Given the description of an element on the screen output the (x, y) to click on. 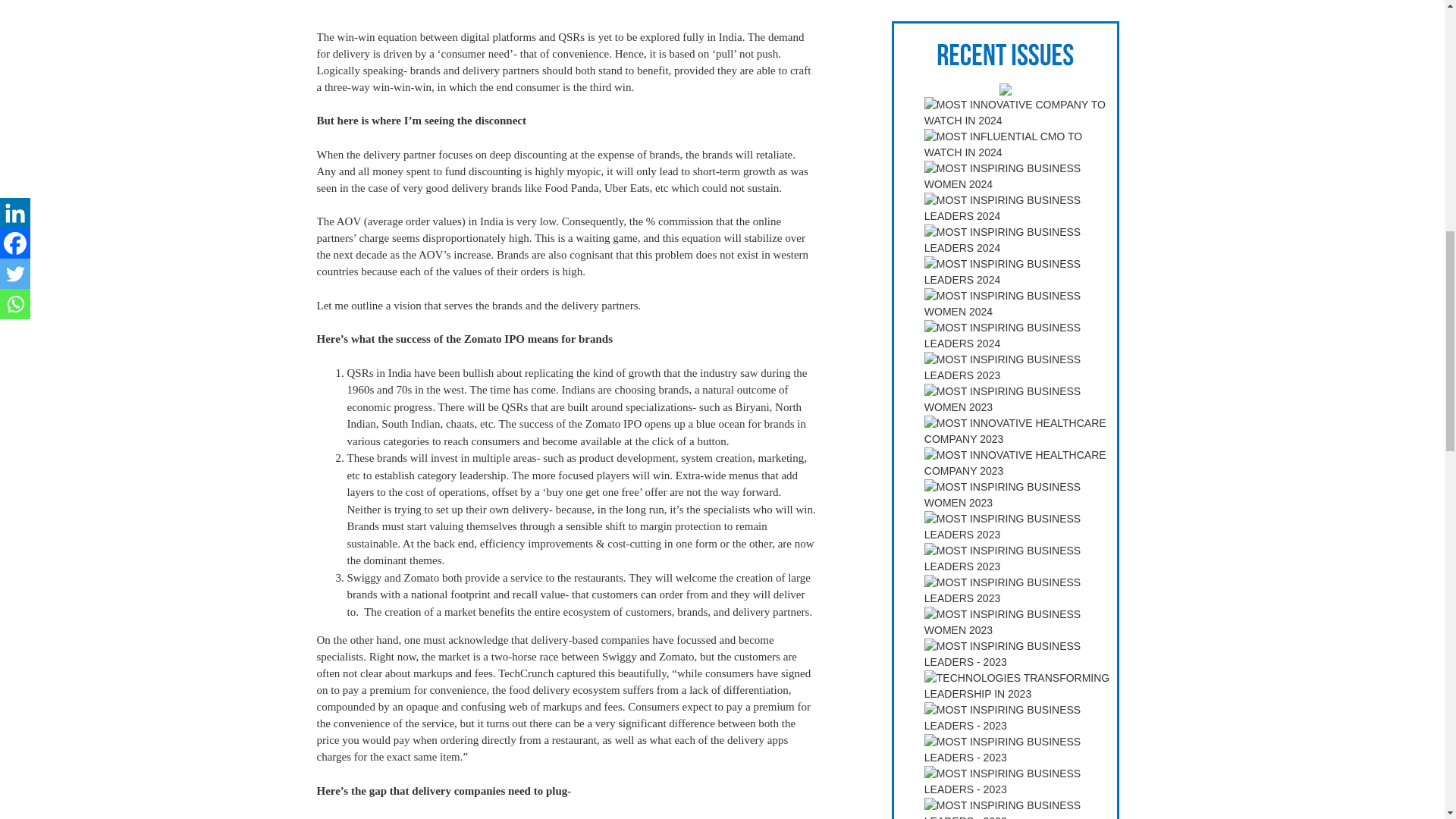
MOST INFLUENTIAL CMO TO WATCH IN 2024 (1020, 144)
MOST INSPIRING BUSINESS LEADERS 2024 (1020, 272)
MOST INSPIRING BUSINESS LEADERS 2024 (1020, 208)
MOST INSPIRING BUSINESS LEADERS 2024 (1020, 240)
MOST INSPIRING BUSINESS WOMEN 2024 (1020, 176)
MOST INNOVATIVE COMPANY TO WATCH IN 2024 (1020, 112)
